Given the description of an element on the screen output the (x, y) to click on. 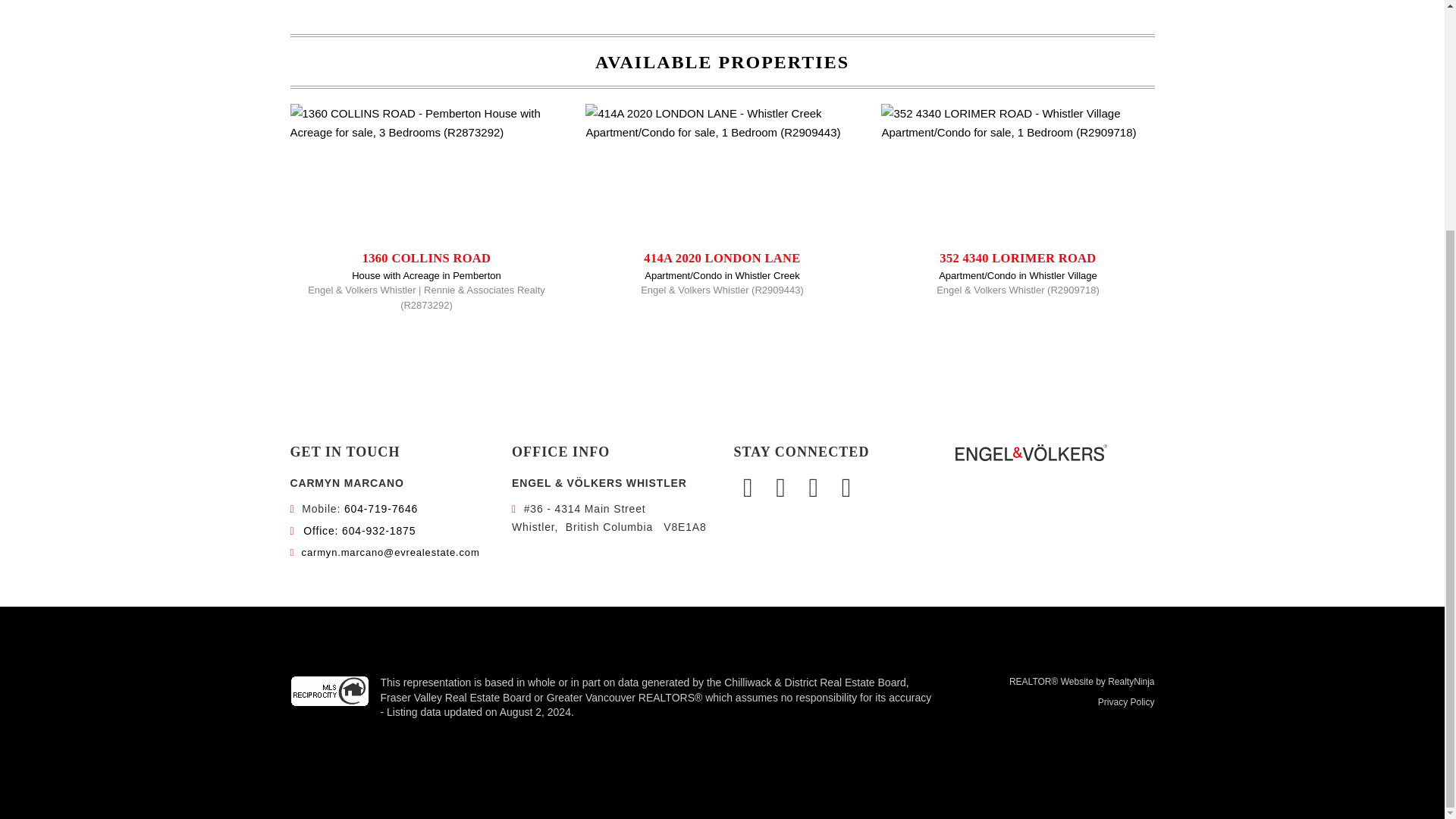
Instagram (783, 488)
604-932-1875 (358, 530)
LinkedIn (815, 488)
YouTube (846, 488)
1360 COLLINS ROAD (427, 257)
604-719-7646 (380, 508)
414A 2020 LONDON LANE (721, 257)
352 4340 LORIMER ROAD (1017, 257)
Facebook (750, 488)
